Given the description of an element on the screen output the (x, y) to click on. 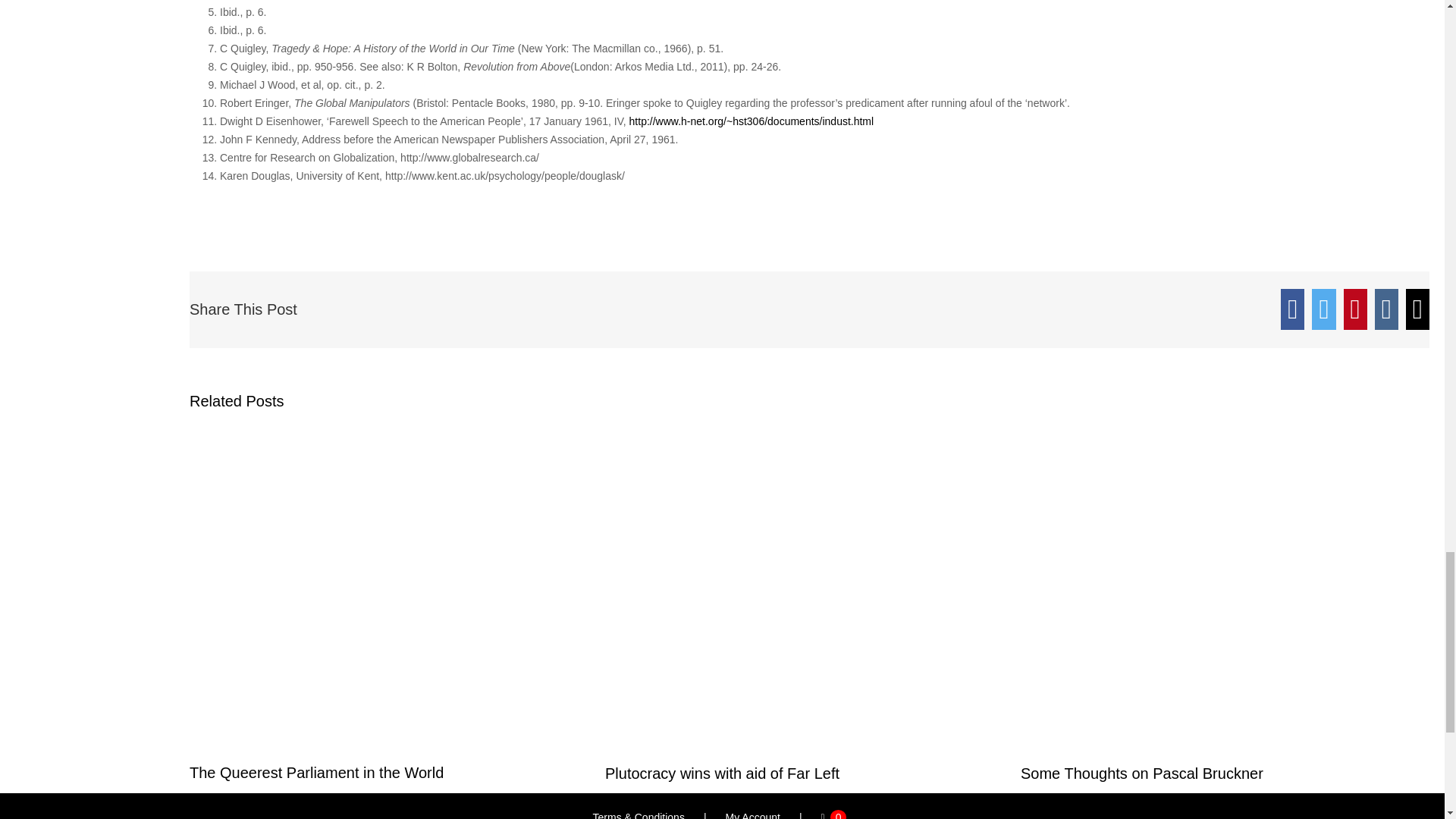
Some Thoughts on Pascal Bruckner (1141, 772)
The Queerest Parliament in the World (316, 772)
Plutocracy wins with aid of Far Left (722, 772)
Plutocracy wins with aid of Far Left (722, 772)
Some Thoughts on Pascal Bruckner (1141, 772)
The Queerest Parliament in the World (316, 772)
